Given the description of an element on the screen output the (x, y) to click on. 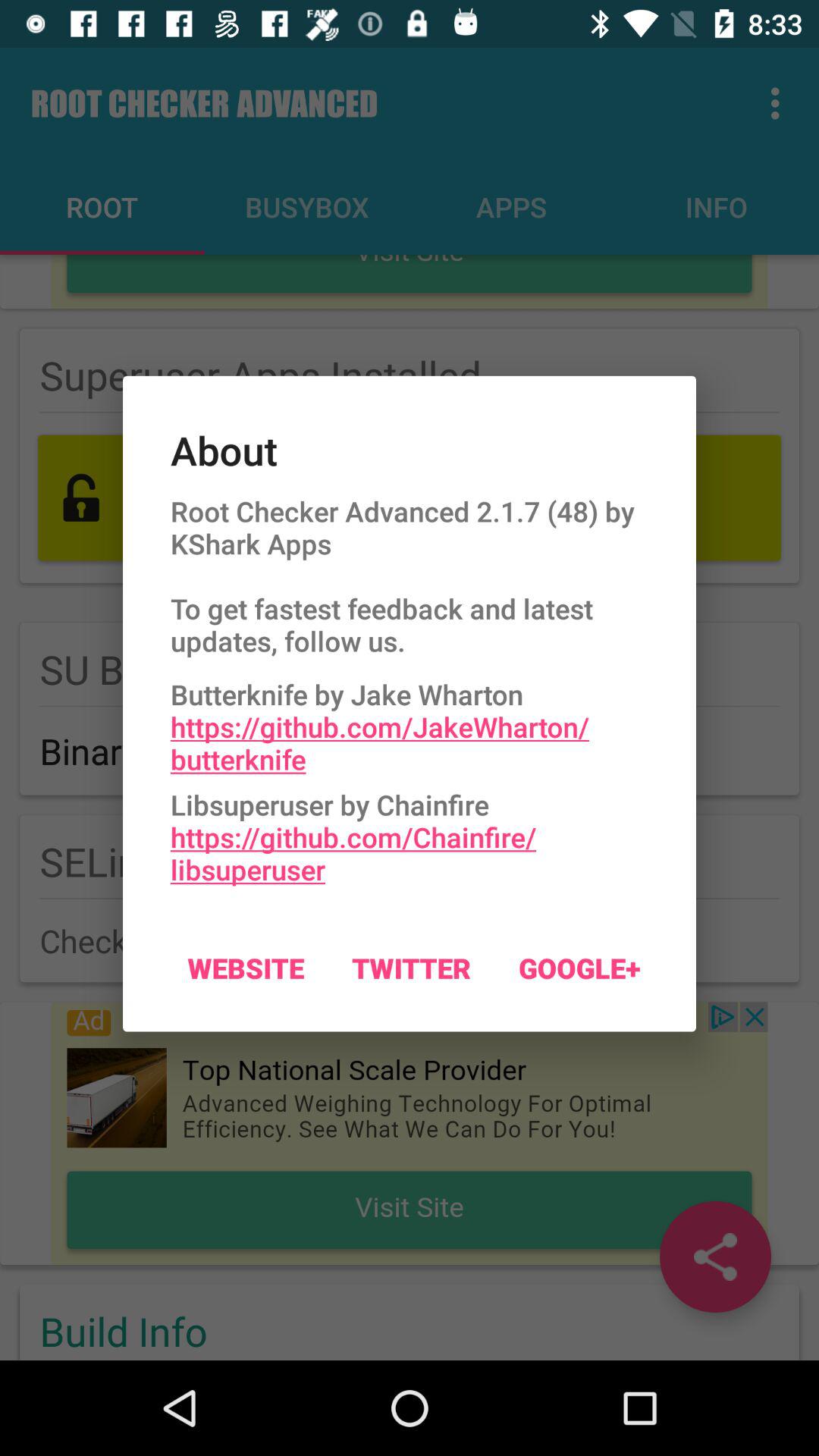
select icon next to twitter item (579, 967)
